Given the description of an element on the screen output the (x, y) to click on. 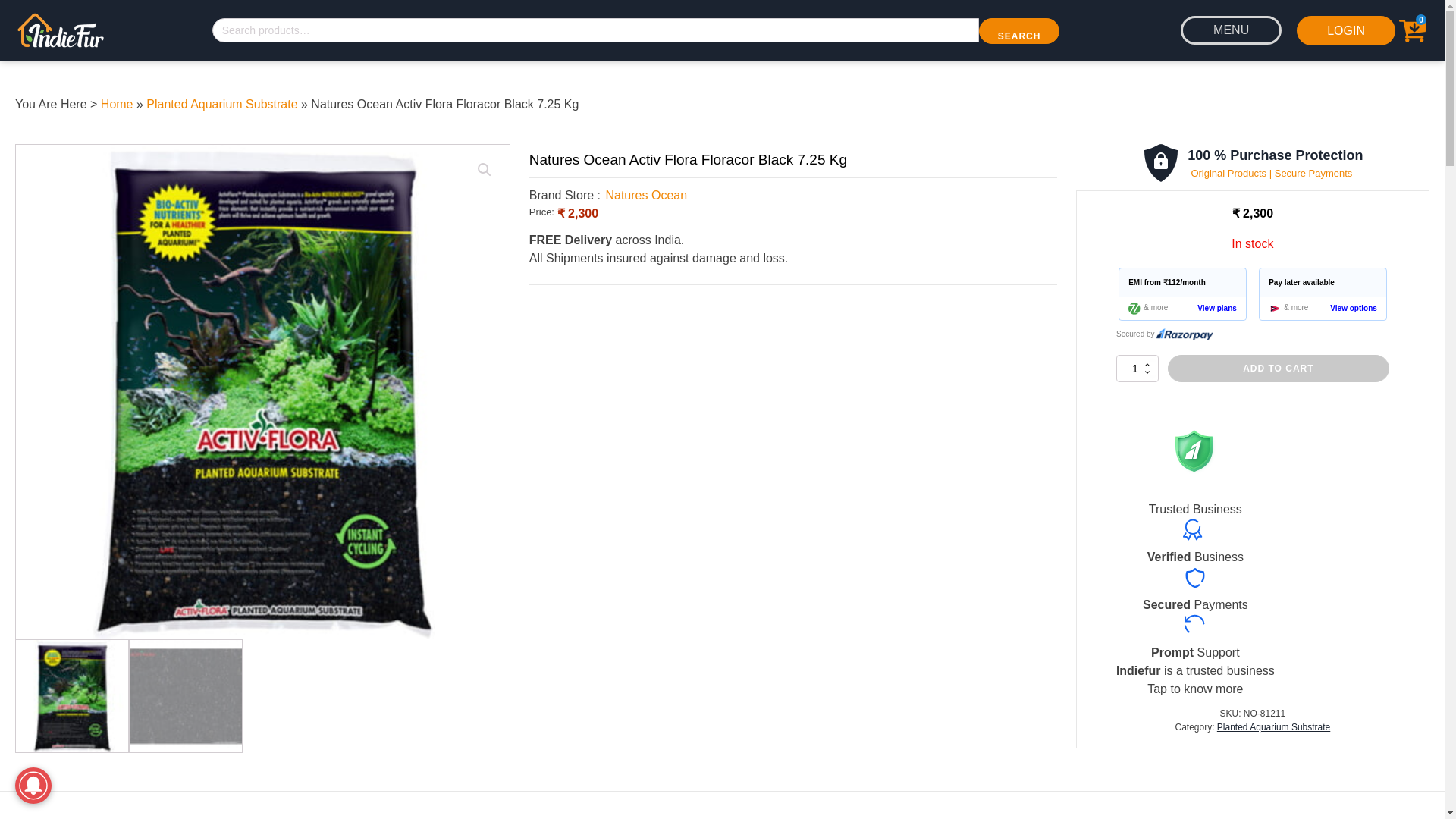
rzpAffordabilityMainFrame (1252, 307)
MENU (1230, 30)
LOGIN (1345, 30)
1 (1137, 368)
View brand (646, 195)
SEARCH (1018, 31)
